Given the description of an element on the screen output the (x, y) to click on. 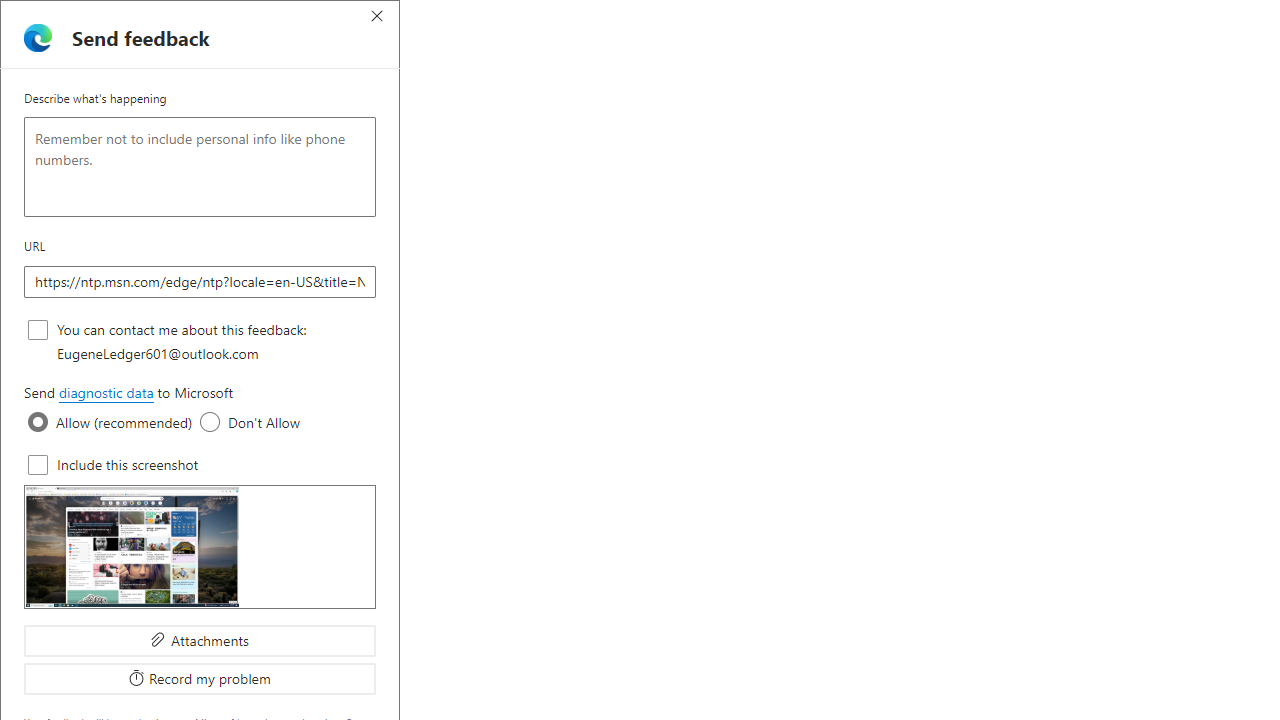
Workspaces (61, 16)
Privacy (680, 99)
How we use personal data (696, 684)
Privacy dashboard (786, 96)
U.S. State Data Privacy Notice (962, 547)
Privacy settings (1014, 96)
Tab actions menu (104, 16)
Microsoft (541, 99)
Microsoft Start - Sleeping (668, 17)
Privacy for young people (862, 509)
